Given the description of an element on the screen output the (x, y) to click on. 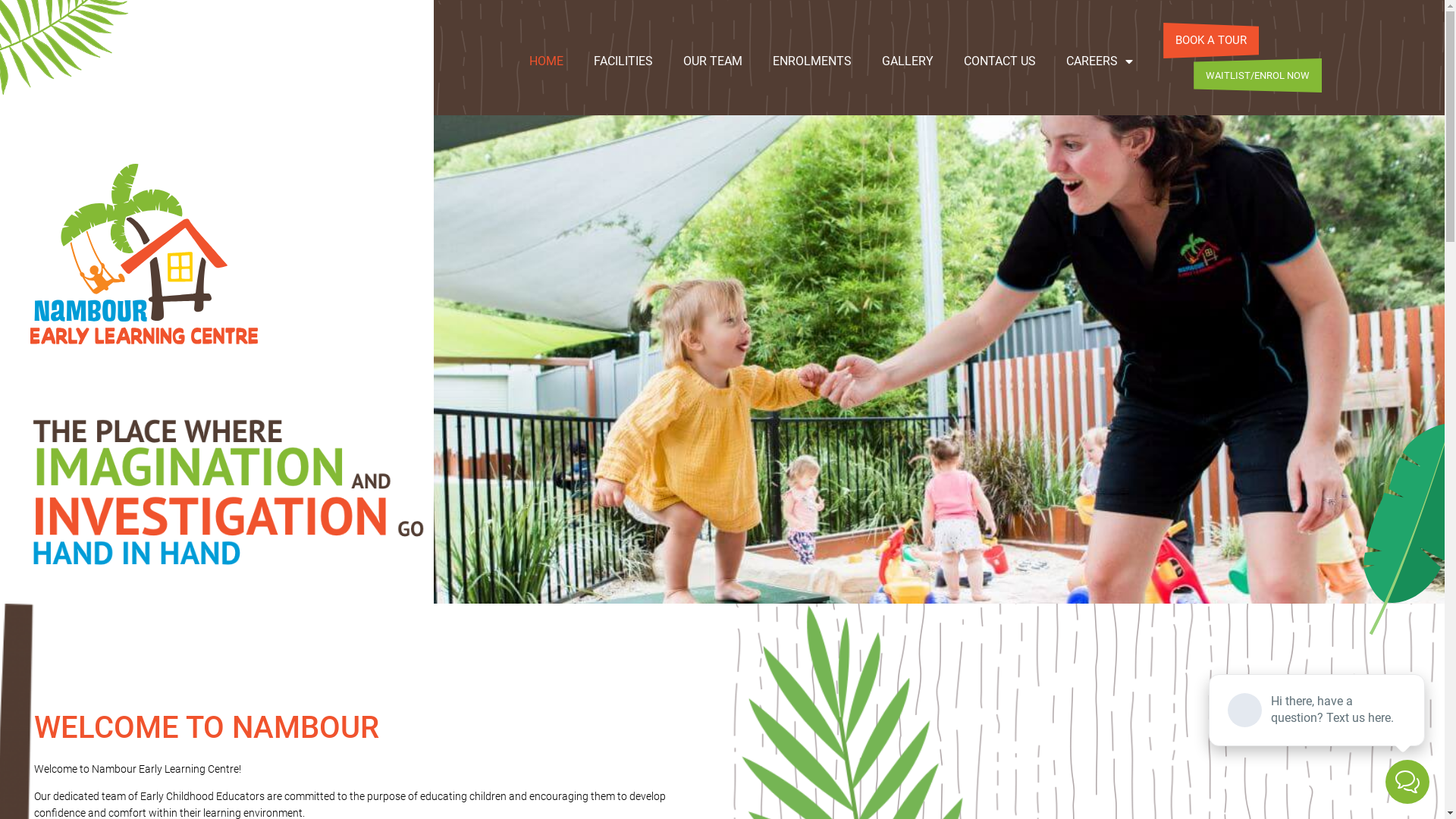
ENROLMENTS Element type: text (811, 61)
GALLERY Element type: text (907, 61)
HOME Element type: text (546, 61)
OUR TEAM Element type: text (712, 61)
CONTACT US Element type: text (999, 61)
FACILITIES Element type: text (623, 61)
WAITLIST/ENROL NOW Element type: text (1257, 75)
BOOK A TOUR Element type: text (1210, 40)
CAREERS Element type: text (1099, 61)
